Given the description of an element on the screen output the (x, y) to click on. 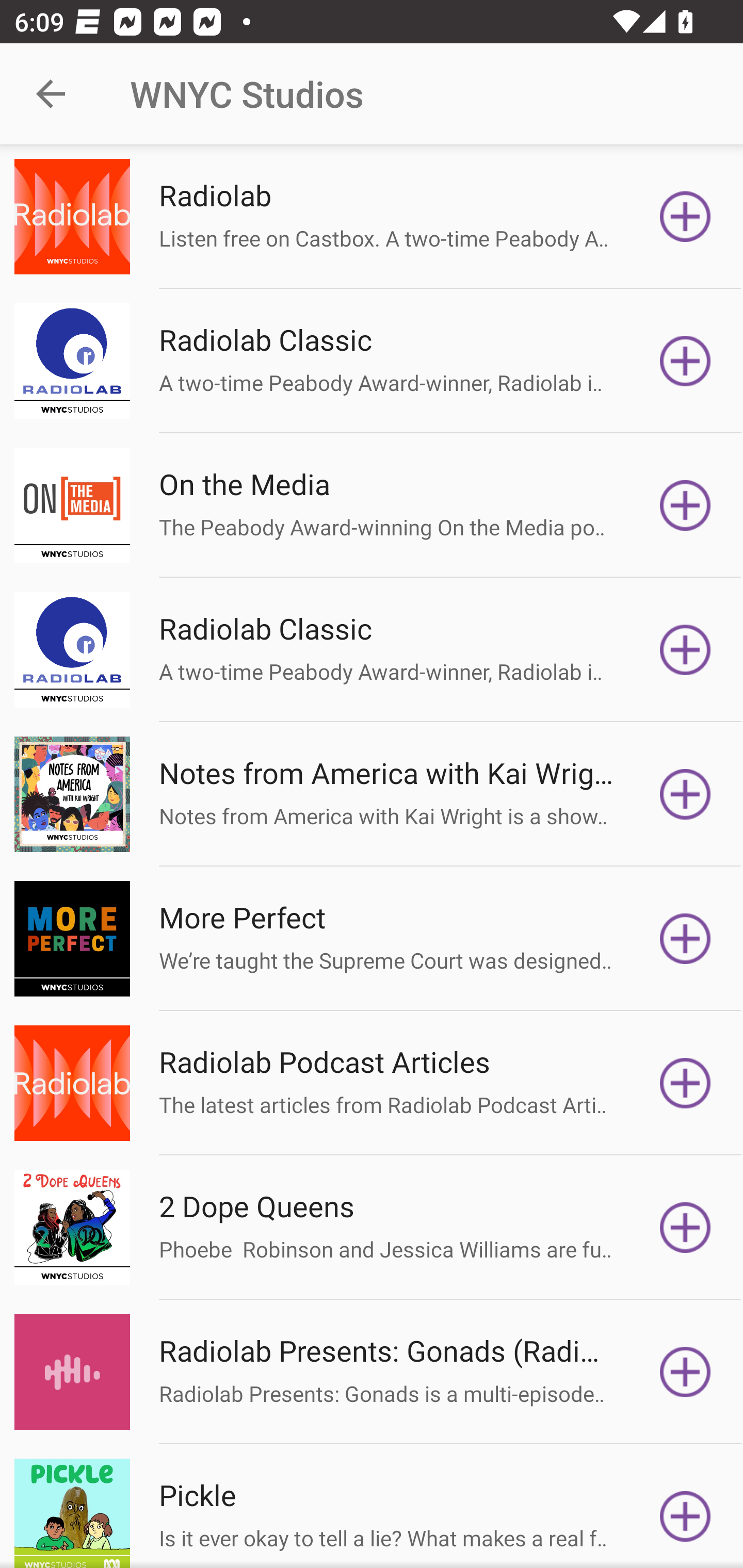
Navigate up (50, 93)
Subscribe (685, 216)
Subscribe (685, 360)
Subscribe (685, 505)
Subscribe (685, 649)
Subscribe (685, 793)
Subscribe (685, 939)
Subscribe (685, 1083)
Subscribe (685, 1227)
Subscribe (685, 1371)
Subscribe (685, 1513)
